Given the description of an element on the screen output the (x, y) to click on. 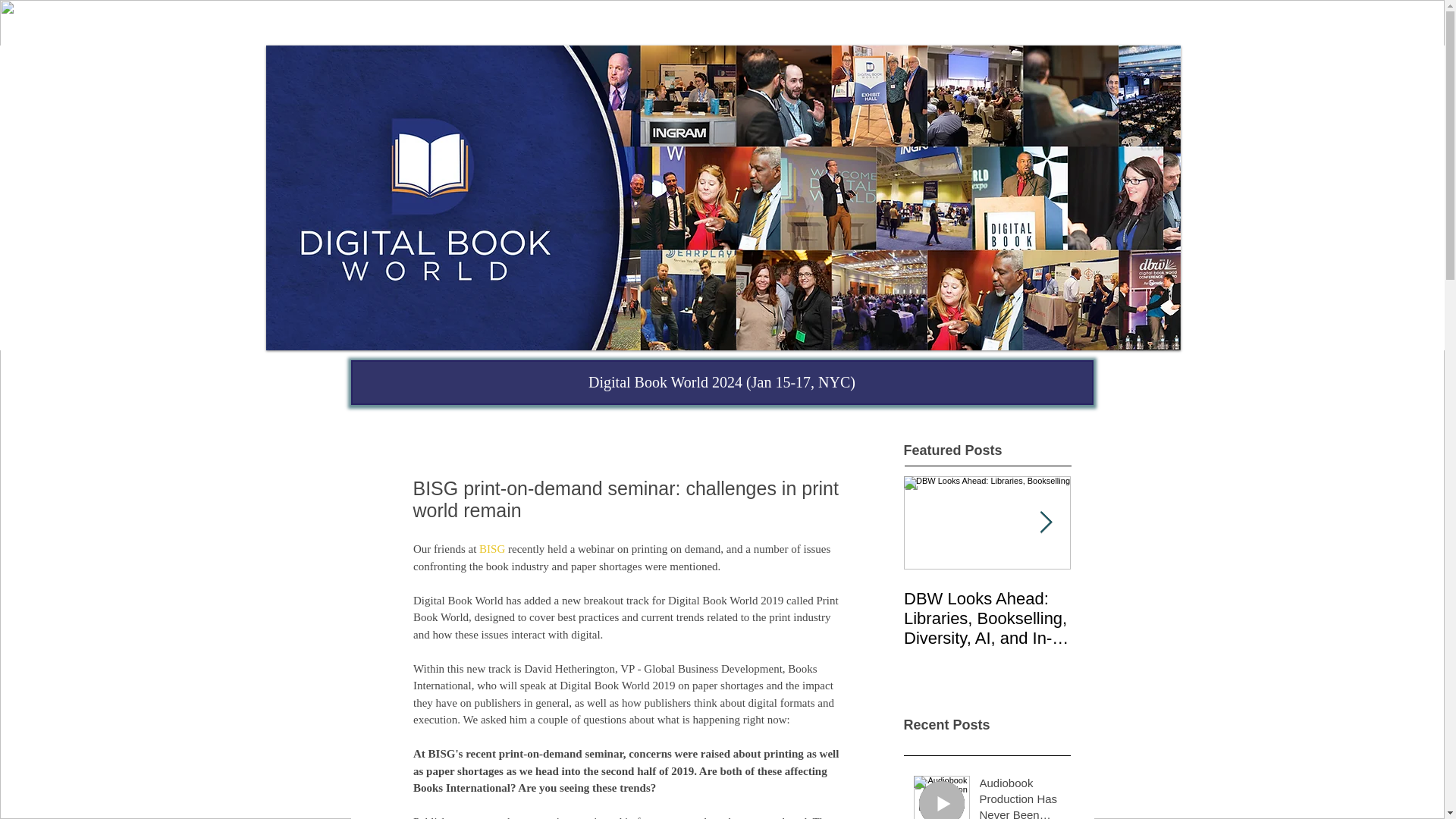
BISG (492, 548)
Audiobook Production Has Never Been Easier (1020, 796)
